Given the description of an element on the screen output the (x, y) to click on. 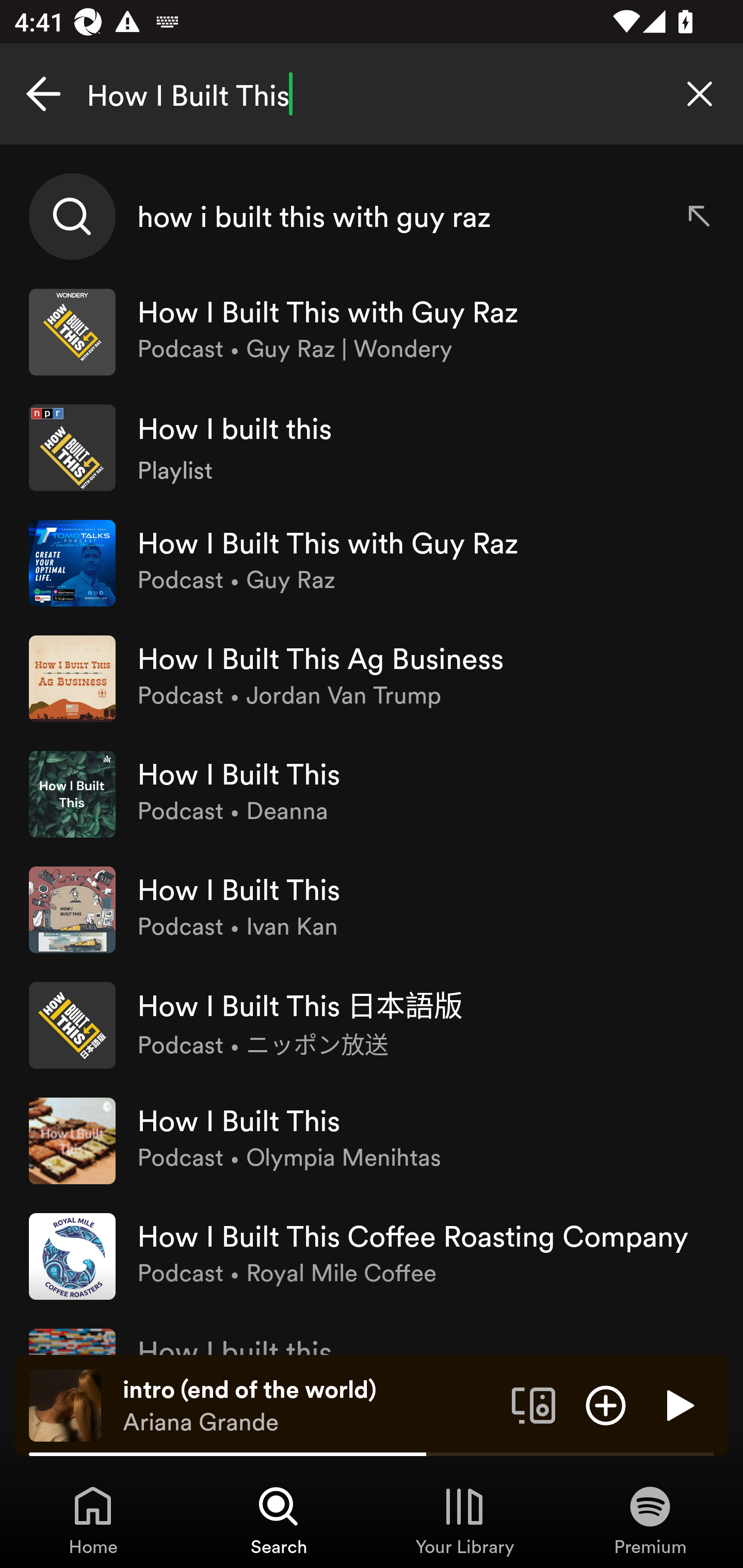
How I Built This (371, 93)
Cancel (43, 93)
Clear search query (699, 93)
how i built this with guy raz (371, 216)
How I built this Playlist (371, 447)
How I Built This with Guy Raz Podcast • Guy Raz (371, 562)
How I Built This Podcast • Deanna (371, 793)
How I Built This Podcast • Ivan Kan (371, 909)
How I Built This 日本語版 Podcast • ニッポン放送 (371, 1025)
How I Built This  Podcast • Olympia Menihtas (371, 1140)
intro (end of the world) Ariana Grande (309, 1405)
The cover art of the currently playing track (64, 1404)
Connect to a device. Opens the devices menu (533, 1404)
Add item (605, 1404)
Play (677, 1404)
Home, Tab 1 of 4 Home Home (92, 1519)
Search, Tab 2 of 4 Search Search (278, 1519)
Your Library, Tab 3 of 4 Your Library Your Library (464, 1519)
Premium, Tab 4 of 4 Premium Premium (650, 1519)
